Given the description of an element on the screen output the (x, y) to click on. 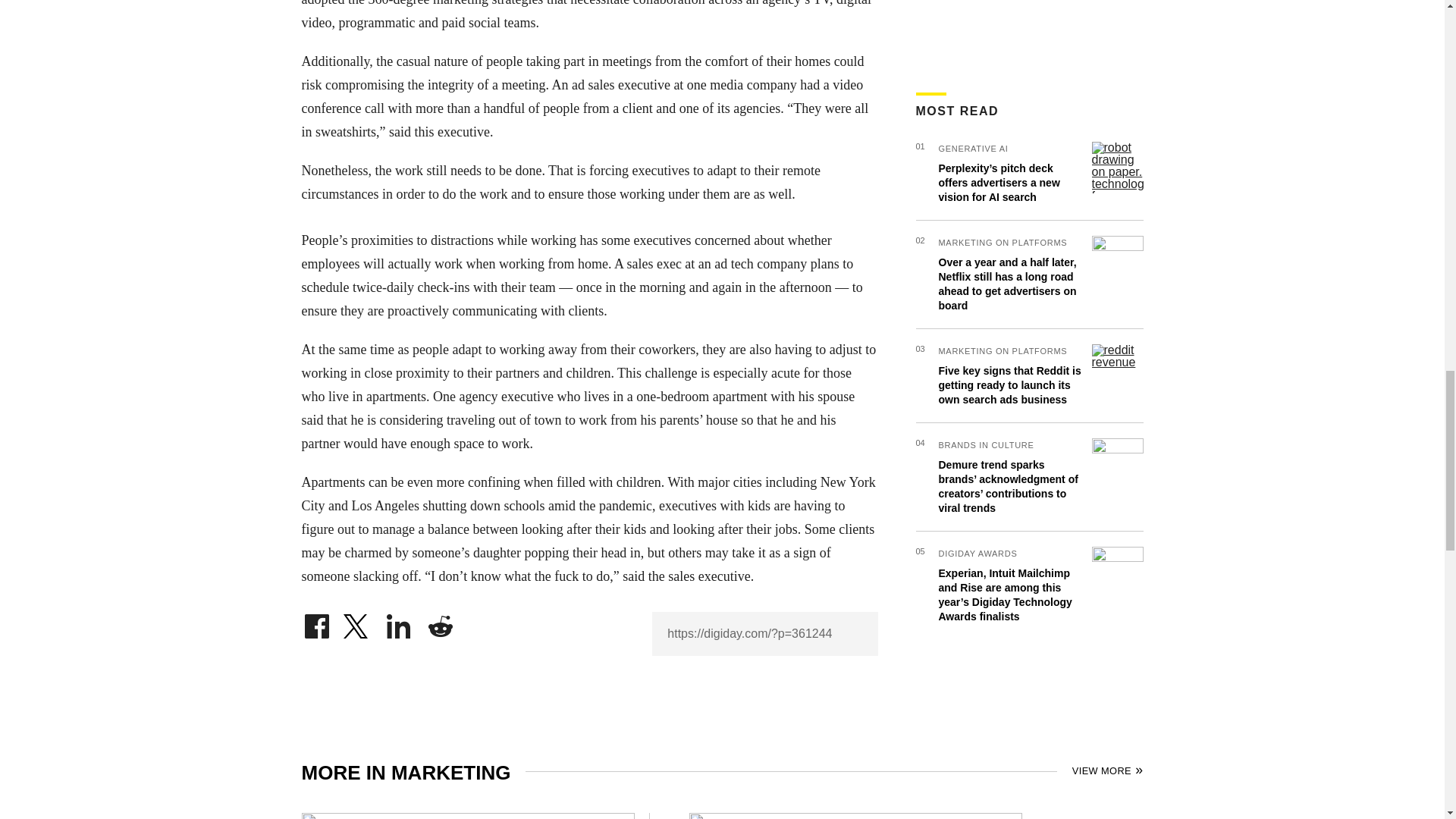
Share on Twitter (357, 622)
Share on Reddit (440, 622)
Share on LinkedIn (398, 622)
Share on Facebook (316, 622)
